Given the description of an element on the screen output the (x, y) to click on. 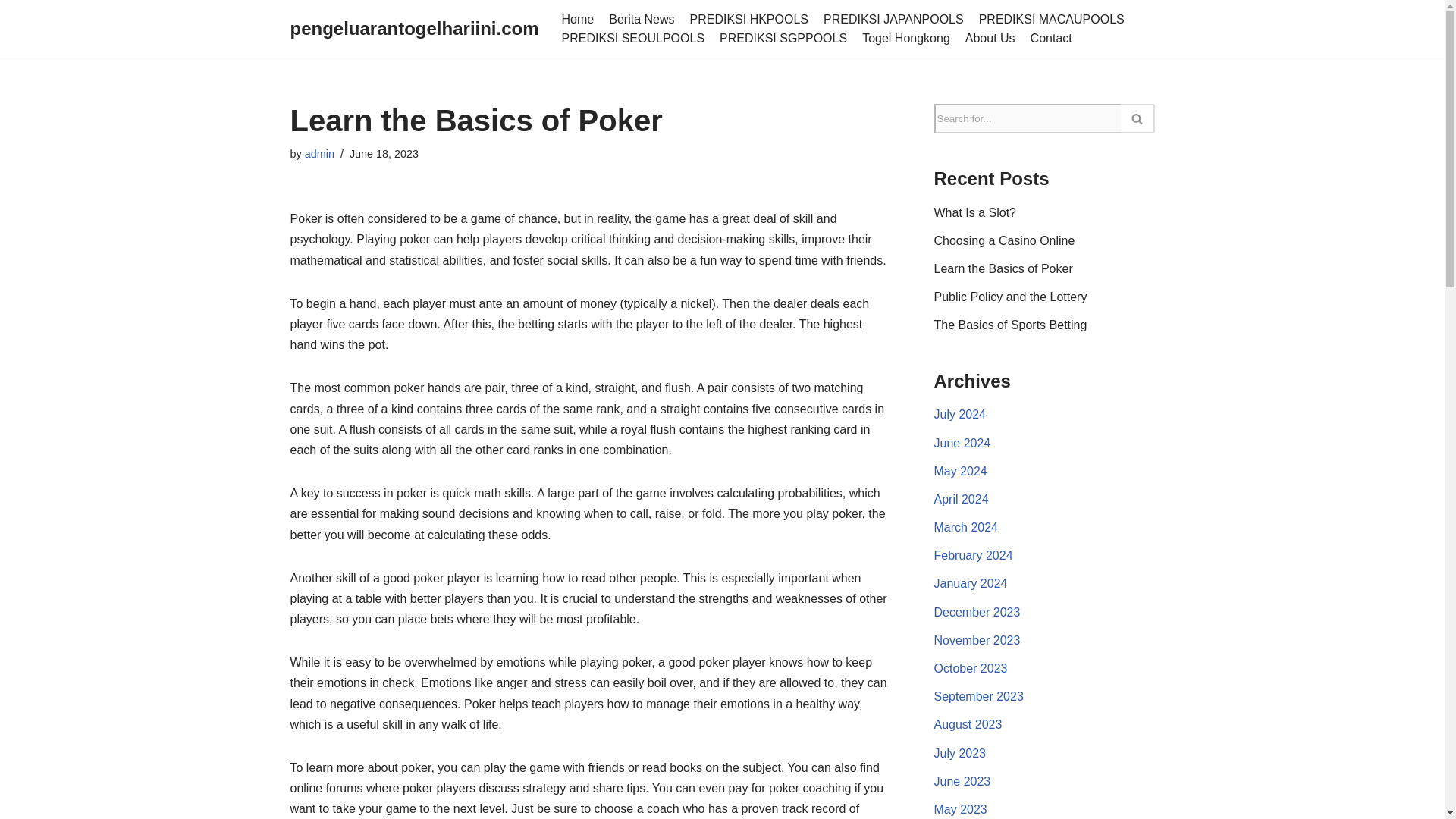
admin (319, 153)
May 2024 (960, 471)
February 2024 (973, 554)
June 2024 (962, 442)
PREDIKSI SEOULPOOLS (633, 38)
pengeluarantogelhariini.com (413, 29)
Skip to content (11, 31)
January 2024 (970, 583)
April 2024 (961, 499)
Choosing a Casino Online (1004, 240)
PREDIKSI HKPOOLS (749, 19)
Home (578, 19)
Contact (1050, 38)
About Us (989, 38)
